Given the description of an element on the screen output the (x, y) to click on. 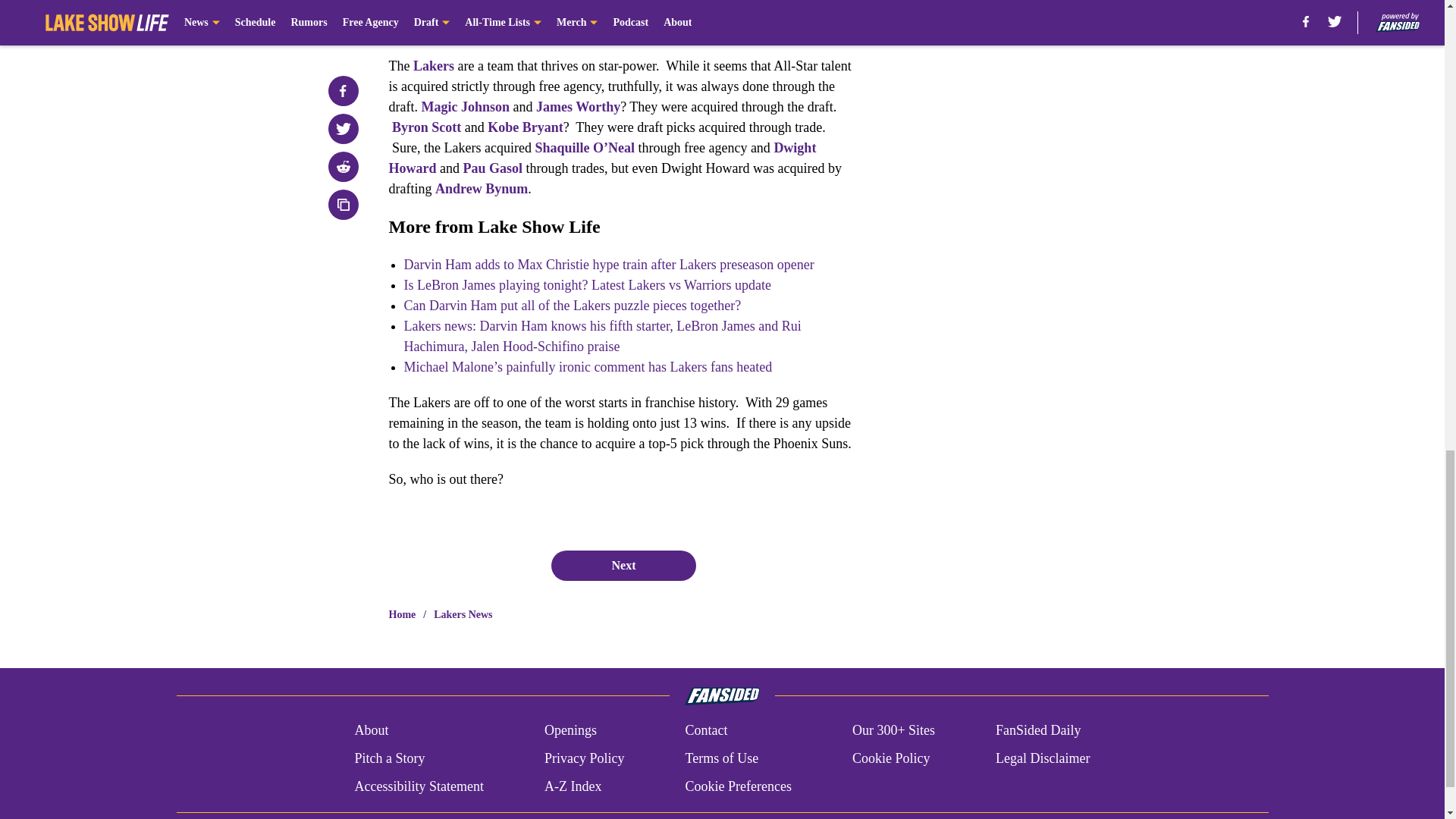
James Worthy (577, 106)
Byron Scott (426, 127)
Magic Johnson (464, 106)
Lakers (433, 65)
